Given the description of an element on the screen output the (x, y) to click on. 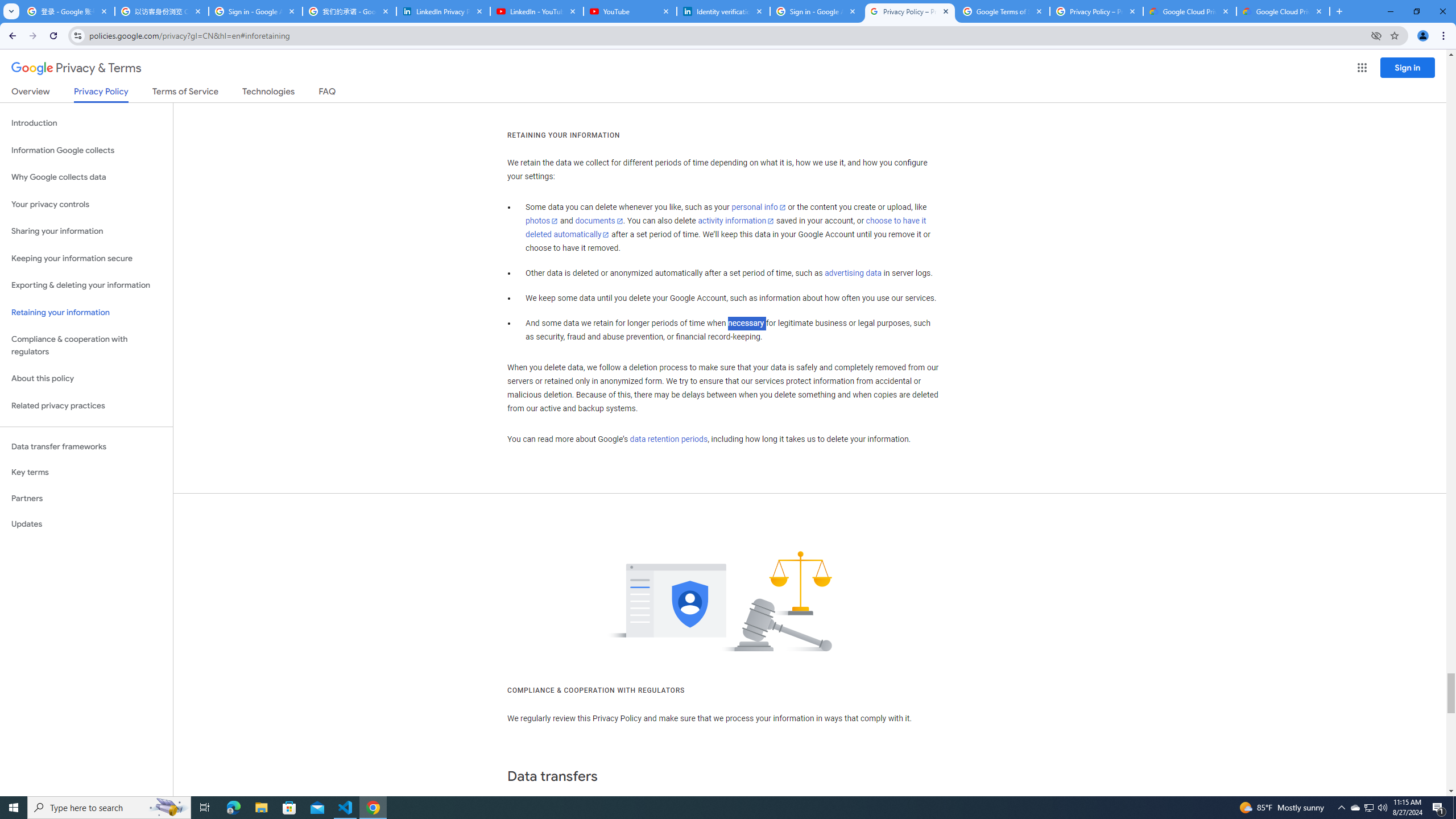
personal info (758, 207)
